Given the description of an element on the screen output the (x, y) to click on. 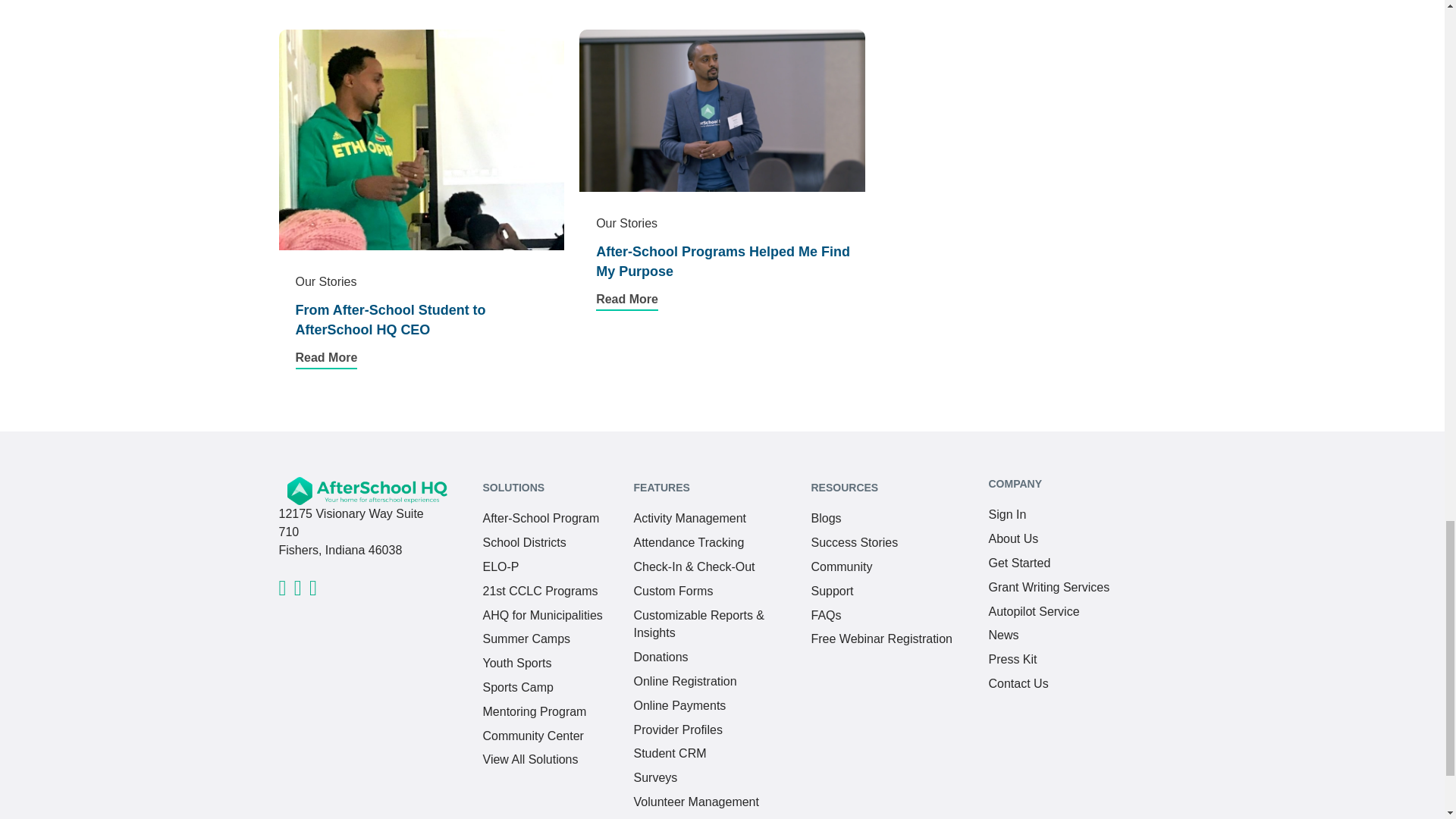
ahq-logo (366, 490)
attachment-5ffdbbfe9ecea8262e80a286 (282, 591)
attachment-5ffdbbfe9ecea8262e80a286 (297, 591)
attachment-5ffdbbfe9ecea8262e80a286 (312, 591)
